Given the description of an element on the screen output the (x, y) to click on. 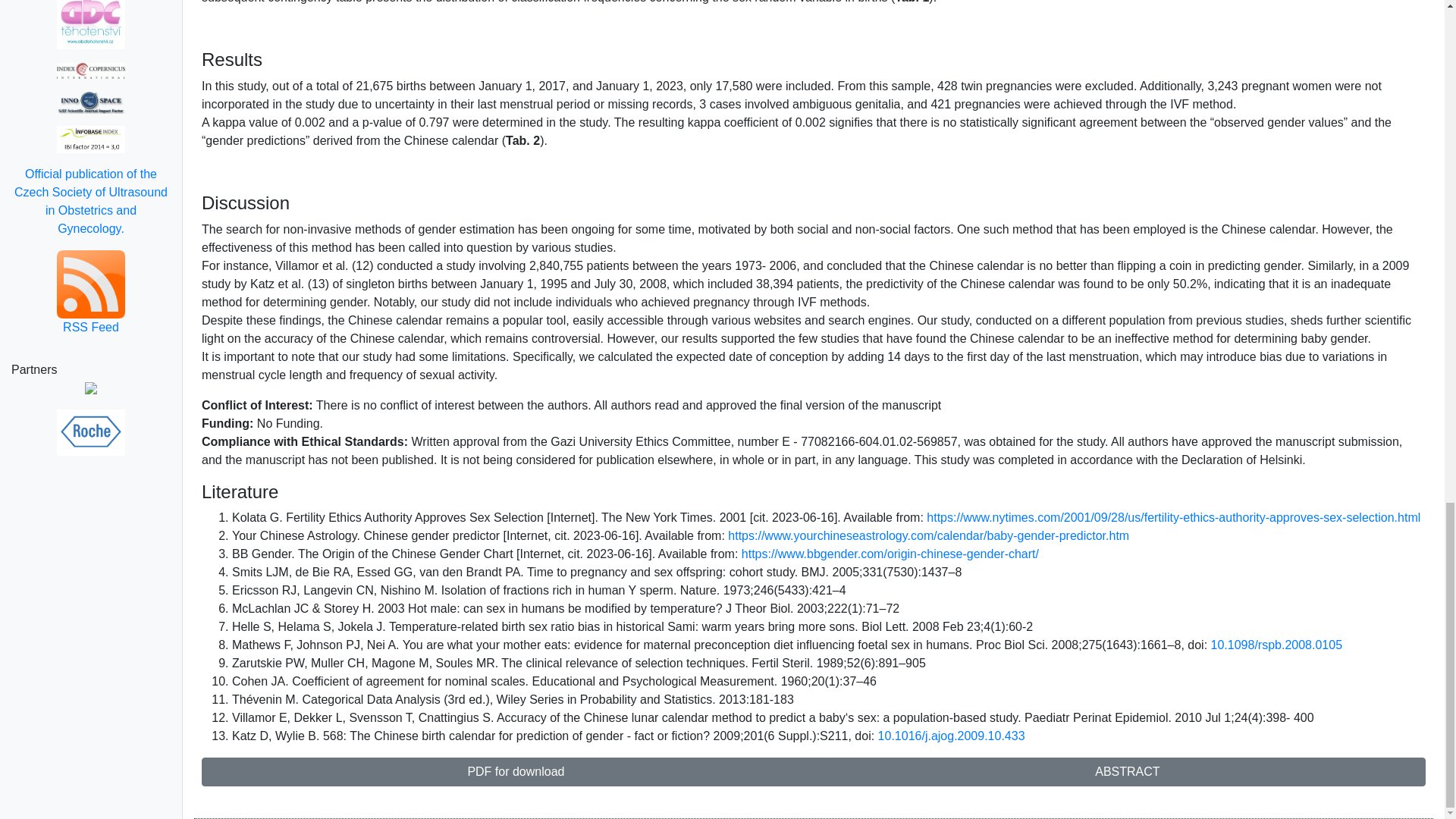
RSS feed (90, 293)
ABCtehotenstvi (90, 24)
infobaseindex (90, 139)
Index Copernicus (90, 70)
Scientific Journal (90, 102)
RSS Feed (90, 293)
